Given the description of an element on the screen output the (x, y) to click on. 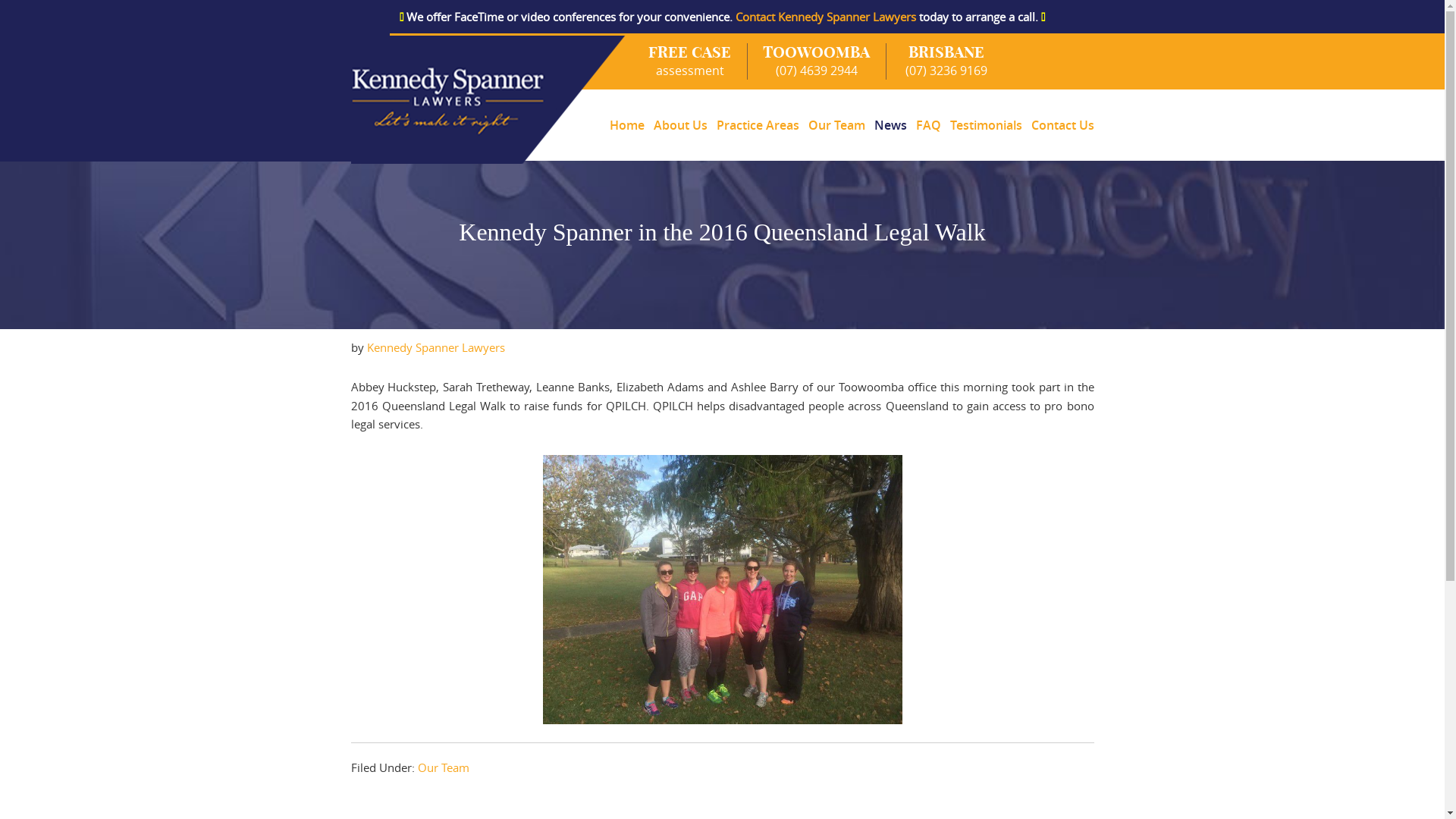
Testimonials Element type: text (985, 124)
Kennedy Spanner Lawyers Element type: text (436, 346)
Contact Us Element type: text (1060, 124)
FREE CASE
assessment Element type: text (690, 61)
News Element type: text (889, 124)
Kennedy Spanner Lawyers Element type: text (488, 99)
TOOWOOMBA
(07) 4639 2944 Element type: text (816, 61)
BRISBANE
(07) 3236 9169 Element type: text (936, 61)
Home Element type: text (627, 124)
Practice Areas Element type: text (757, 124)
About Us Element type: text (680, 124)
Contact Kennedy Spanner Lawyers Element type: text (825, 16)
Our Team Element type: text (836, 124)
Skip to primary navigation Element type: text (0, 33)
Our Team Element type: text (442, 767)
FAQ Element type: text (928, 124)
